Given the description of an element on the screen output the (x, y) to click on. 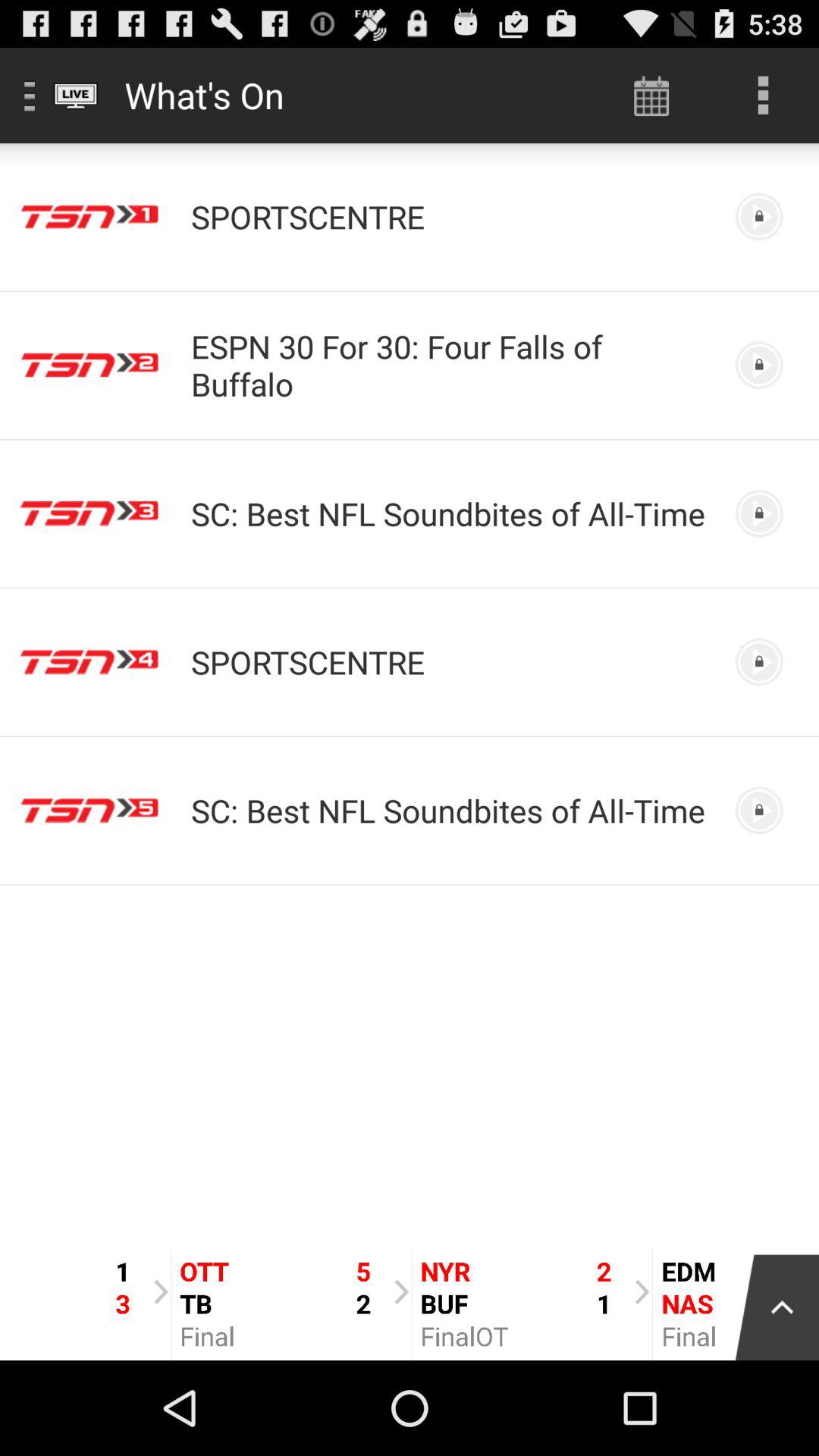
flip until the espn 30 for app (450, 364)
